Given the description of an element on the screen output the (x, y) to click on. 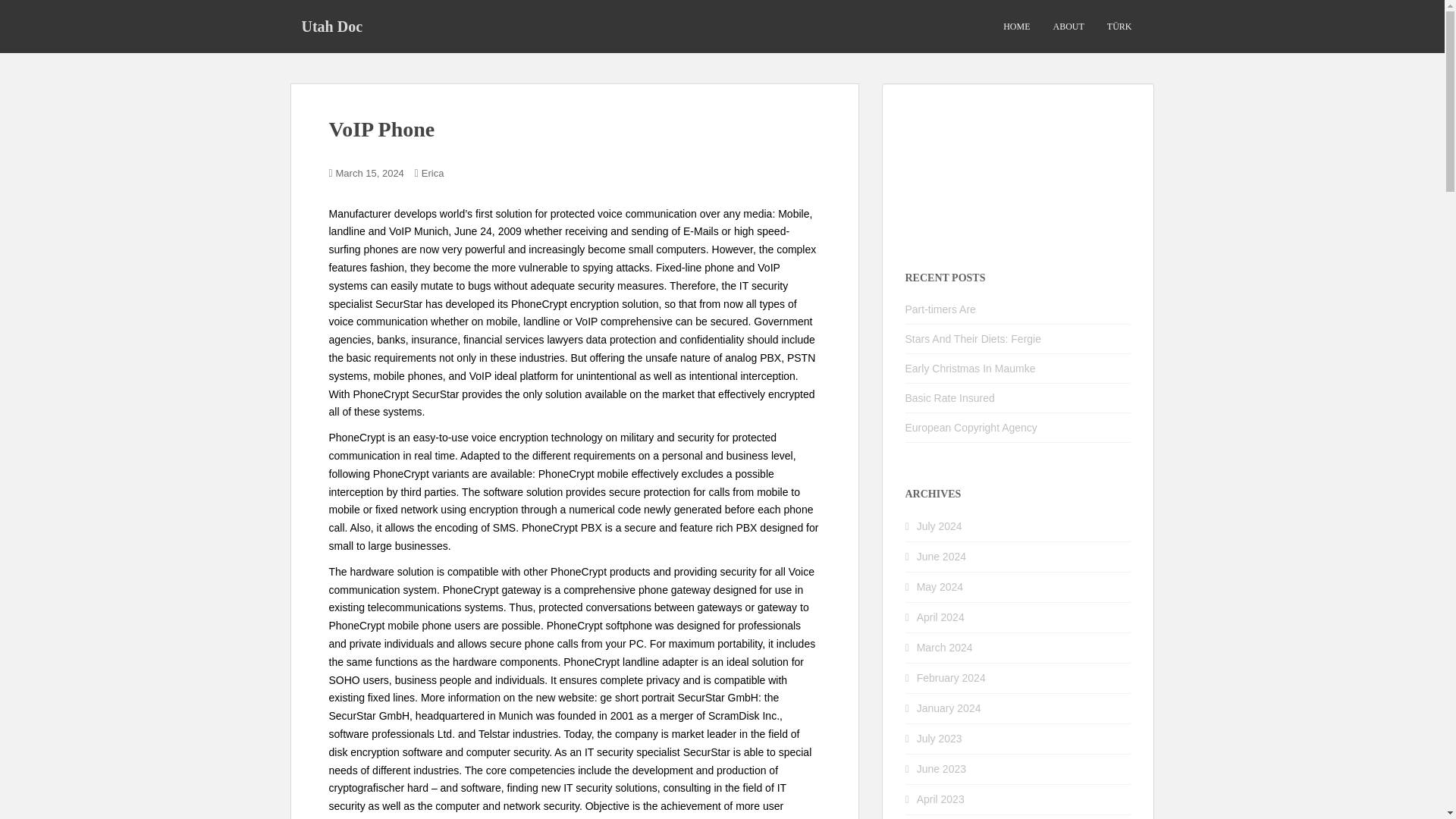
Erica (433, 173)
April 2024 (940, 616)
March 2024 (944, 647)
Stars And Their Diets: Fergie (973, 338)
June 2023 (941, 768)
January 2024 (949, 707)
March 15, 2024 (370, 173)
Part-timers Are (940, 309)
Utah Doc (331, 26)
July 2024 (939, 526)
Utah Doc (331, 26)
Early Christmas In Maumke (970, 368)
May 2024 (939, 586)
July 2023 (939, 738)
February 2024 (951, 677)
